Given the description of an element on the screen output the (x, y) to click on. 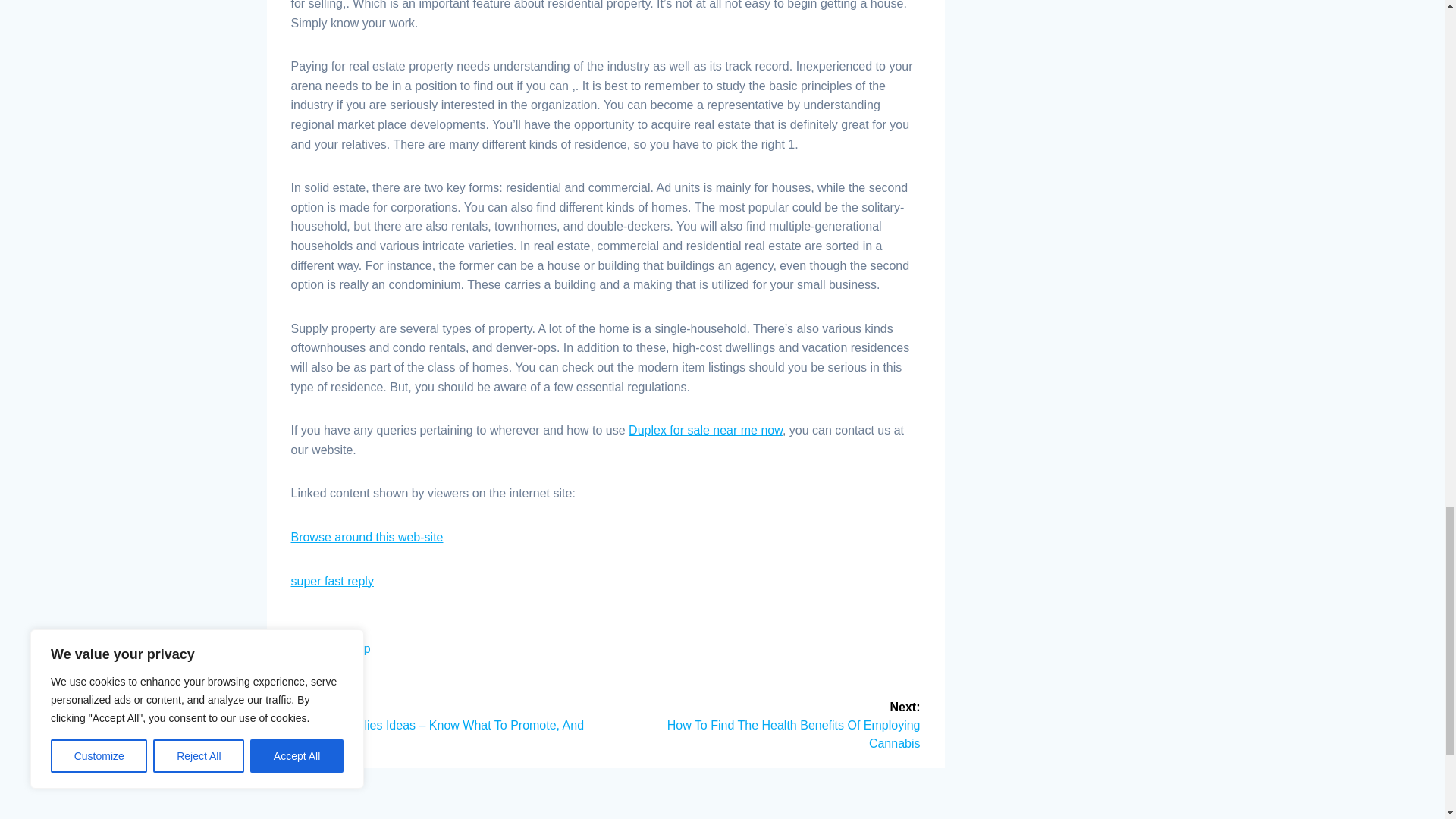
Duplex for sale near me now (705, 430)
super fast reply (332, 581)
Browse around this web-site (367, 536)
